Given the description of an element on the screen output the (x, y) to click on. 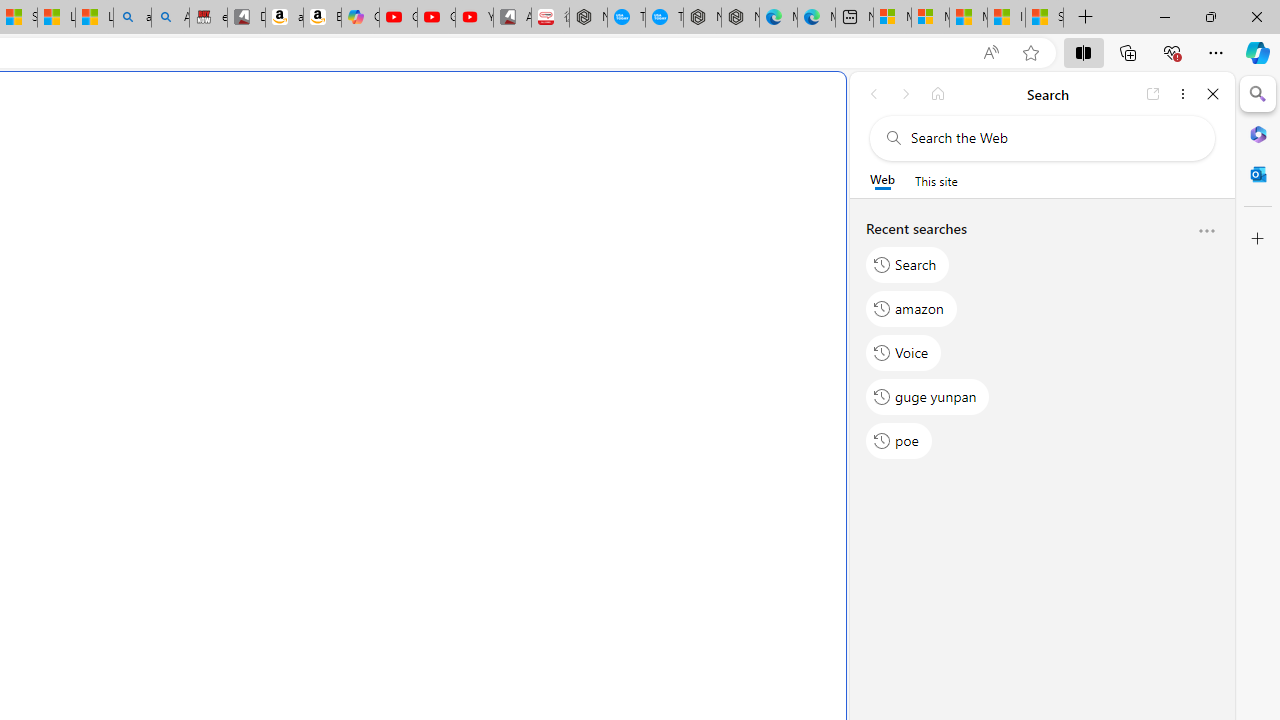
poe (898, 441)
I Gained 20 Pounds of Muscle in 30 Days! | Watch (1006, 17)
amazon (911, 308)
Nordace - Nordace has arrived Hong Kong (740, 17)
Search the web (1051, 137)
guge yunpan (927, 396)
amazon.in/dp/B0CX59H5W7/?tag=gsmcom05-21 (284, 17)
This site scope (936, 180)
Voice (904, 352)
